Given the description of an element on the screen output the (x, y) to click on. 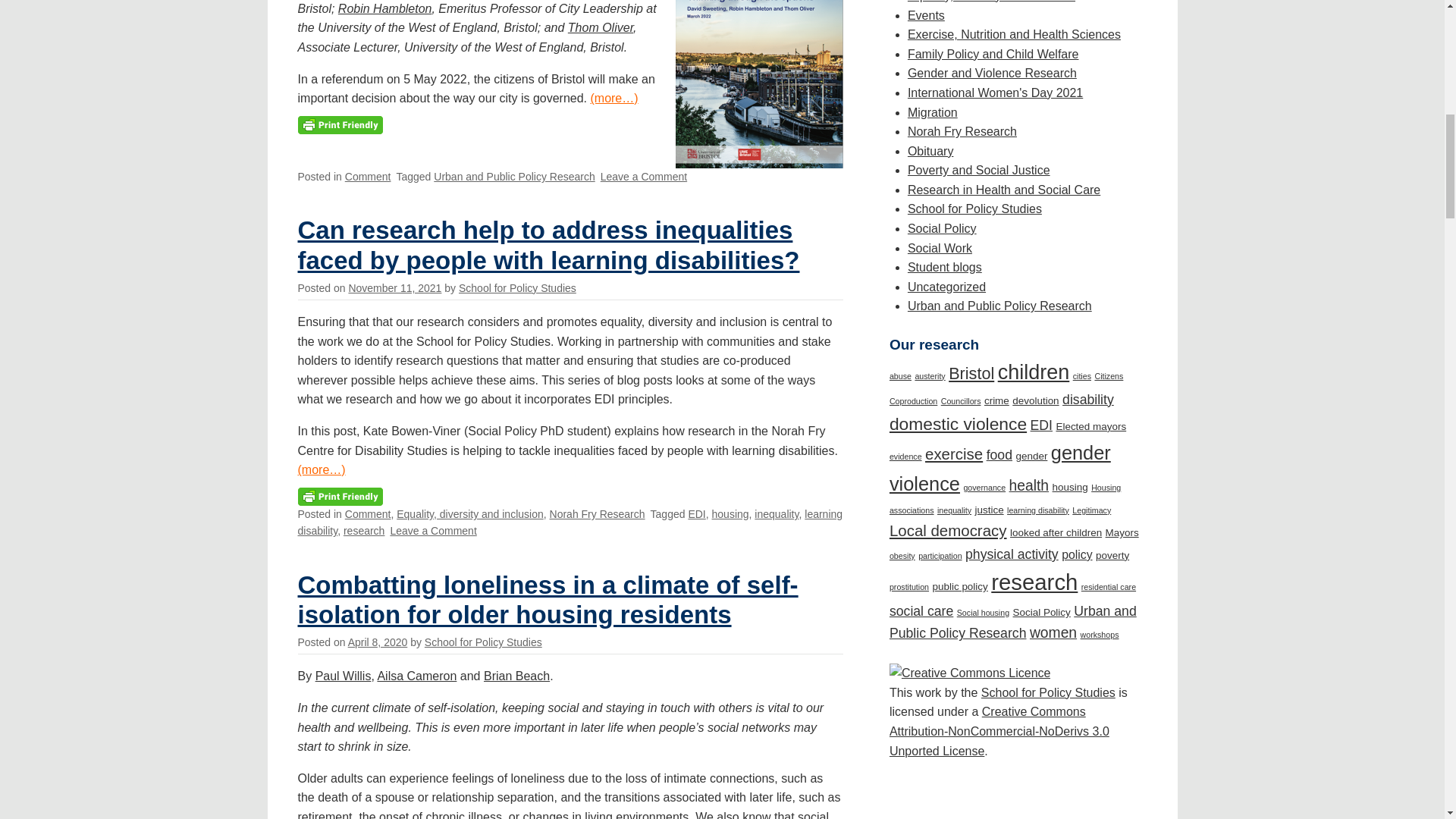
Urban and Public Policy Research (513, 176)
Thom Oliver (600, 27)
November 11, 2021 (394, 287)
School for Policy Studies (517, 287)
Robin Hambleton (384, 8)
Comment (368, 176)
